Given the description of an element on the screen output the (x, y) to click on. 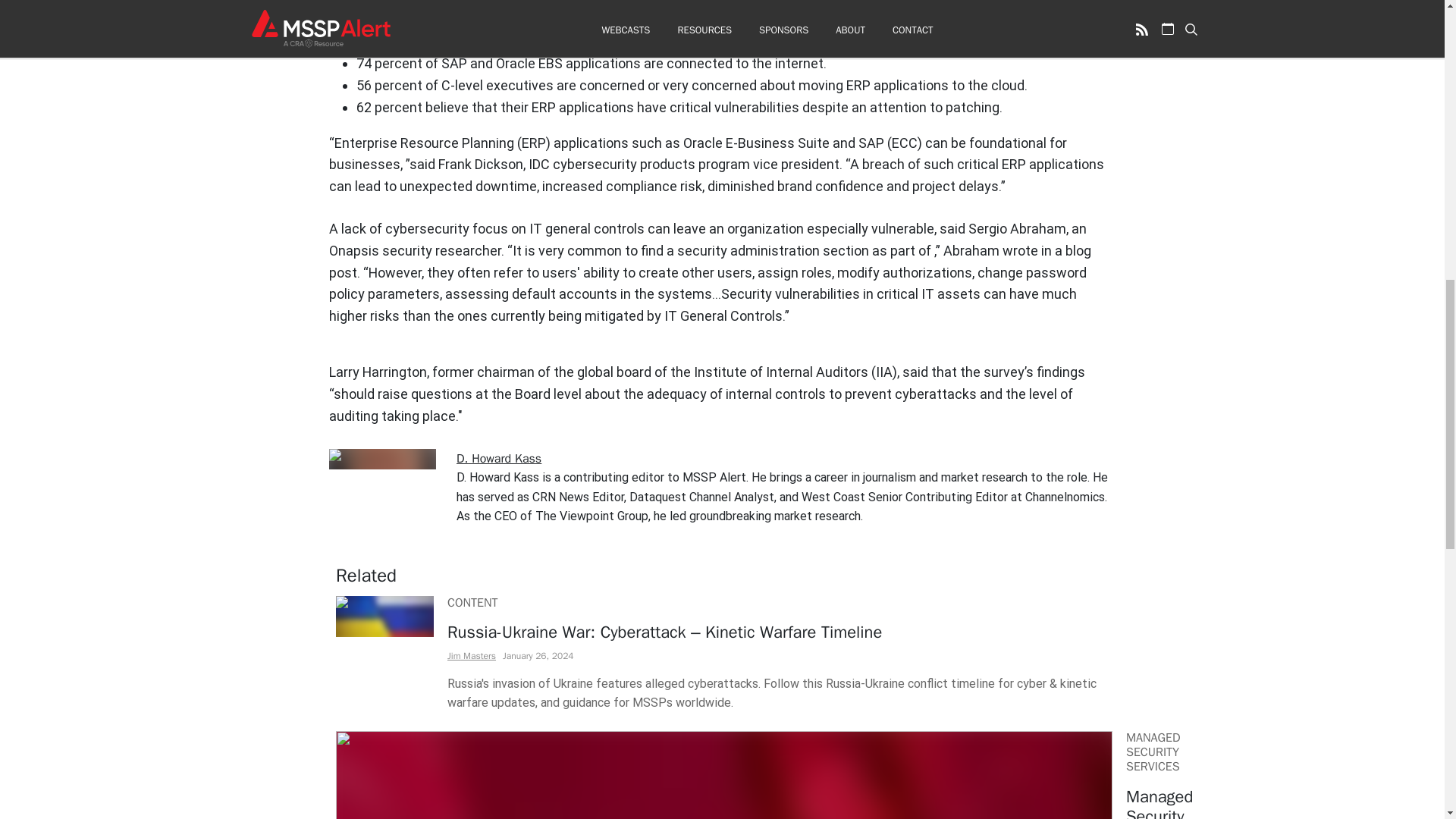
CONTENT (471, 602)
D. Howard Kass (499, 458)
Jim Masters (471, 655)
MANAGED SECURITY SERVICES (1152, 751)
blog post (709, 261)
